Given the description of an element on the screen output the (x, y) to click on. 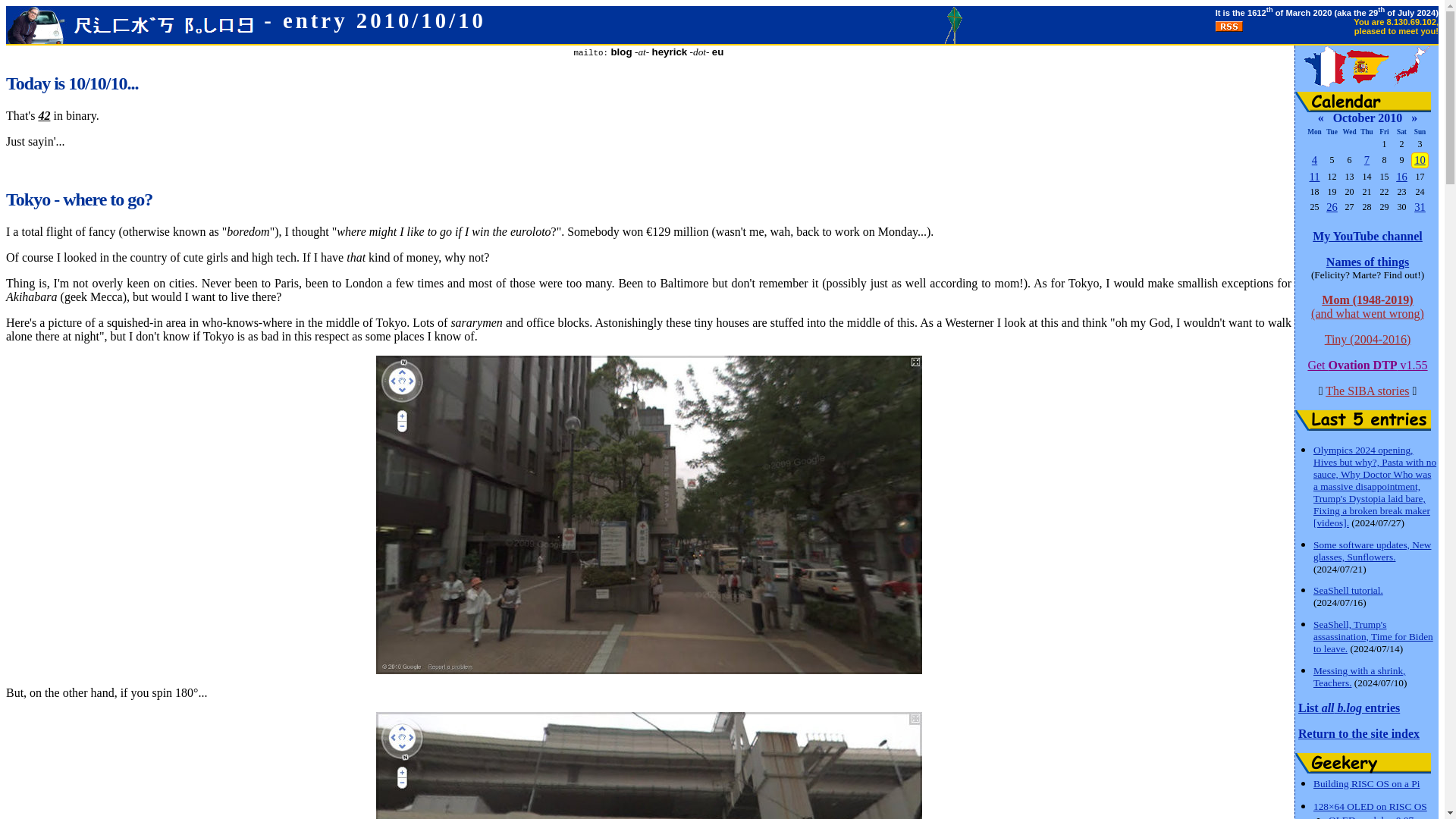
Some software updates, New glasses, Sunflowers. (1372, 550)
The SIBA stories (1366, 390)
Non-existance, bento, halloween... (1419, 206)
October 2010 (1368, 117)
Tokyo - where to go? Movie remakes. (1419, 159)
Get Ovation DTP v1.55 (1366, 364)
Geekery (1363, 762)
Looking north (648, 765)
SeaShell tutorial. (1348, 590)
Messing with a shrink, Teachers. (1359, 676)
10 (1419, 159)
Calendar (1363, 101)
Names of things (1367, 261)
List all b.log entries (1348, 707)
